Given the description of an element on the screen output the (x, y) to click on. 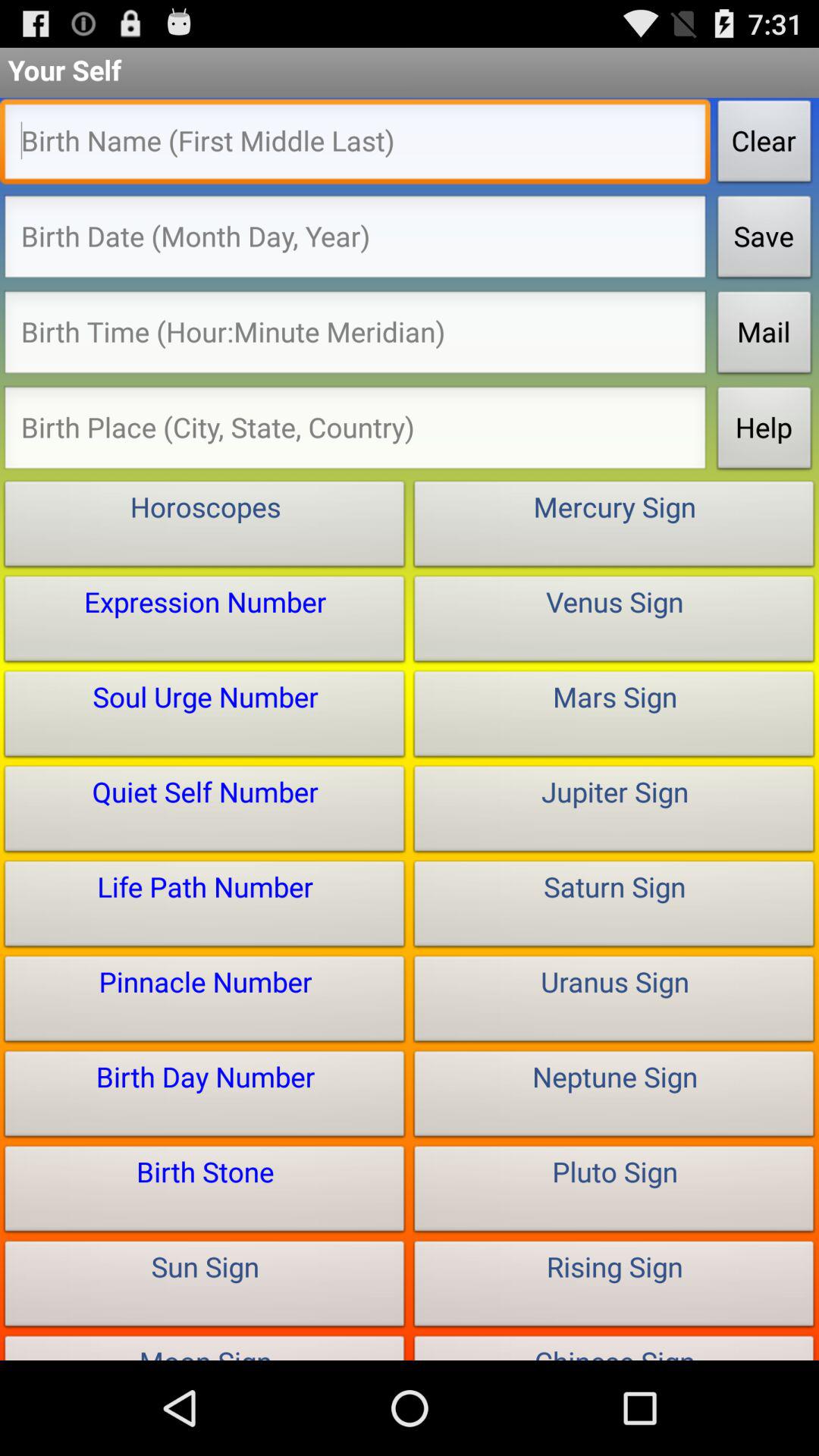
type in name (355, 145)
